Given the description of an element on the screen output the (x, y) to click on. 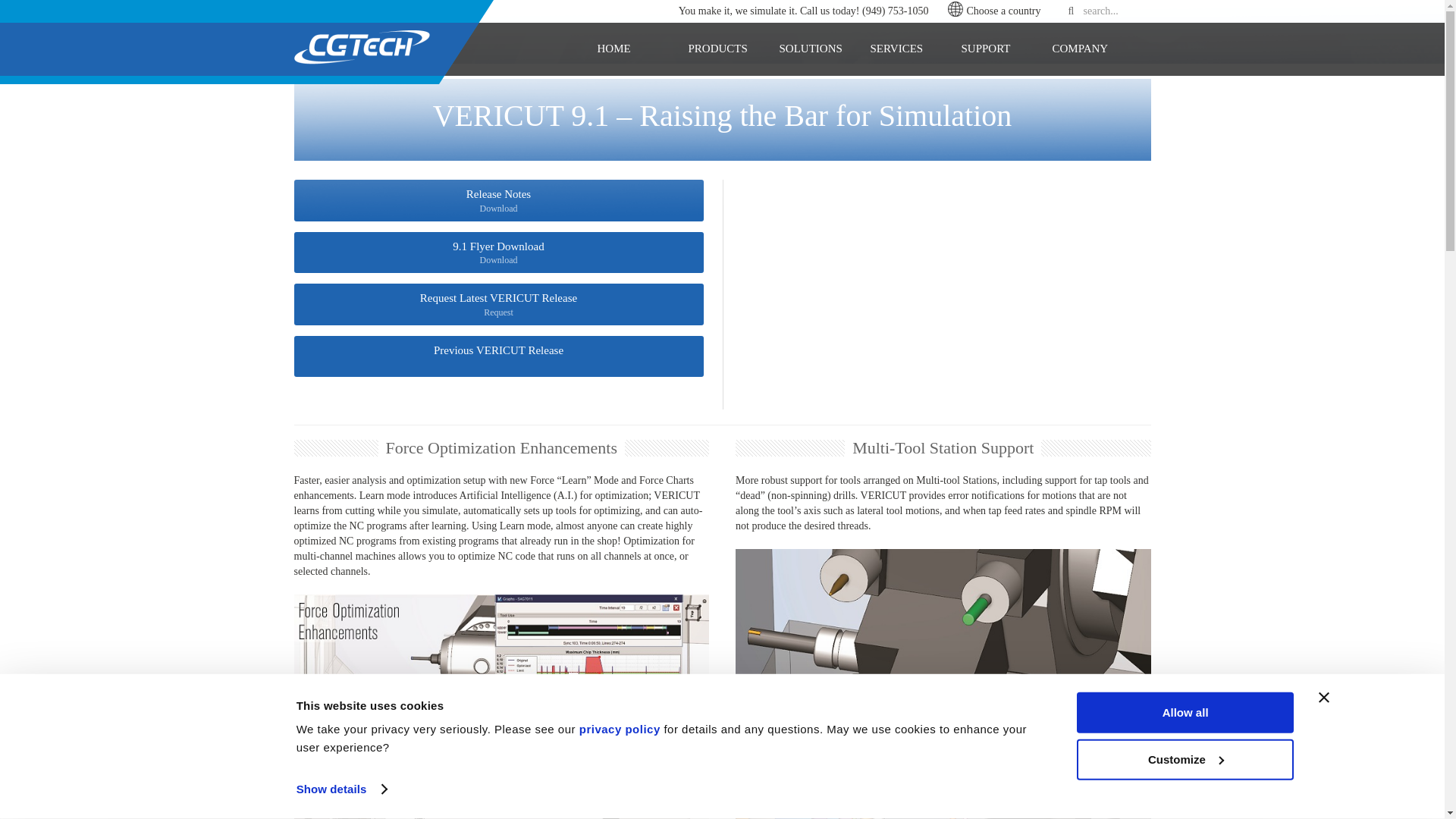
privacy policy (620, 728)
Show details (341, 789)
